Given the description of an element on the screen output the (x, y) to click on. 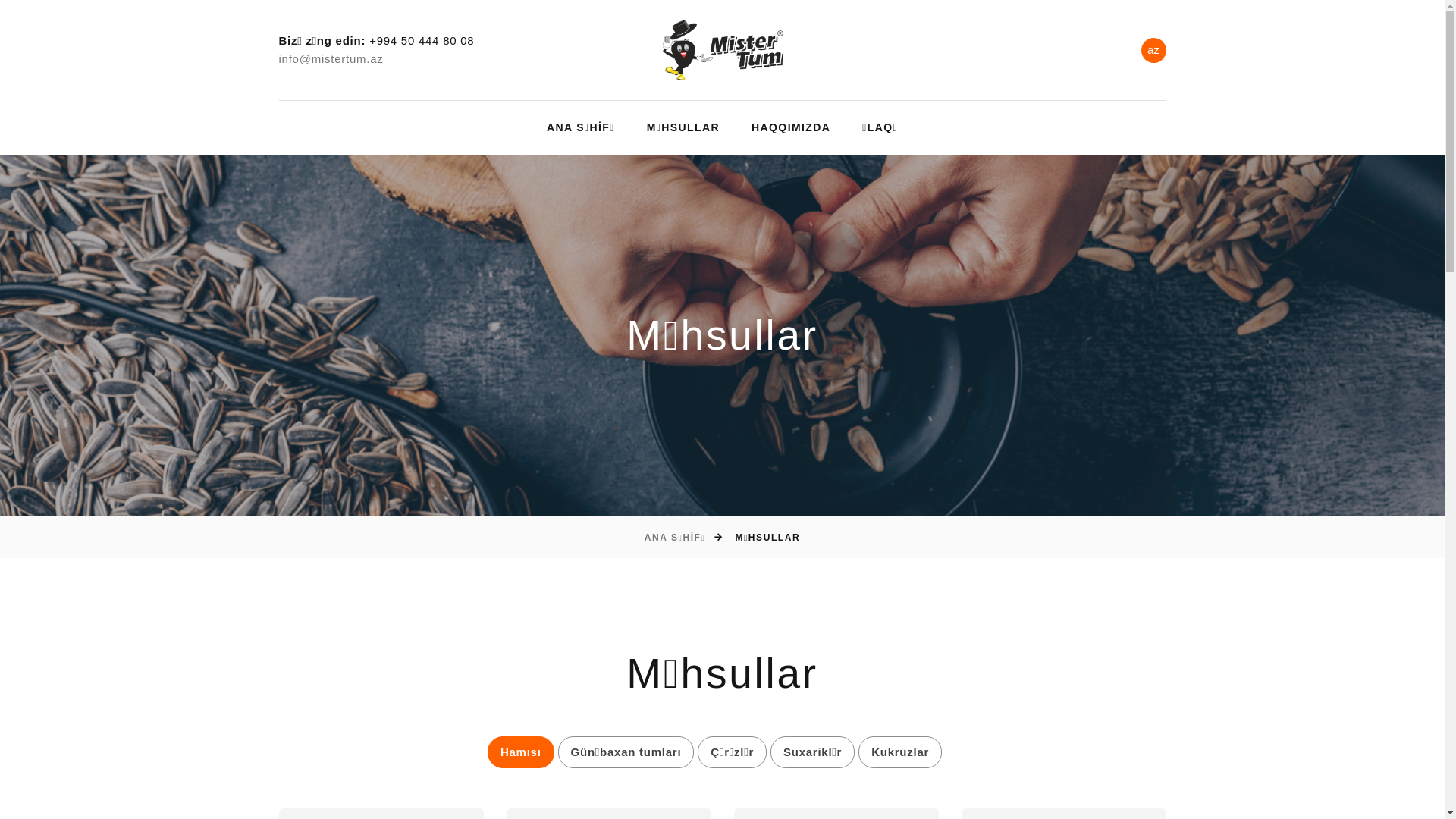
Kukruzlar Element type: text (899, 752)
info@mistertum.az Element type: text (331, 58)
HAQQIMIZDA Element type: text (790, 127)
+994 50 444 80 08 Element type: text (421, 40)
